Given the description of an element on the screen output the (x, y) to click on. 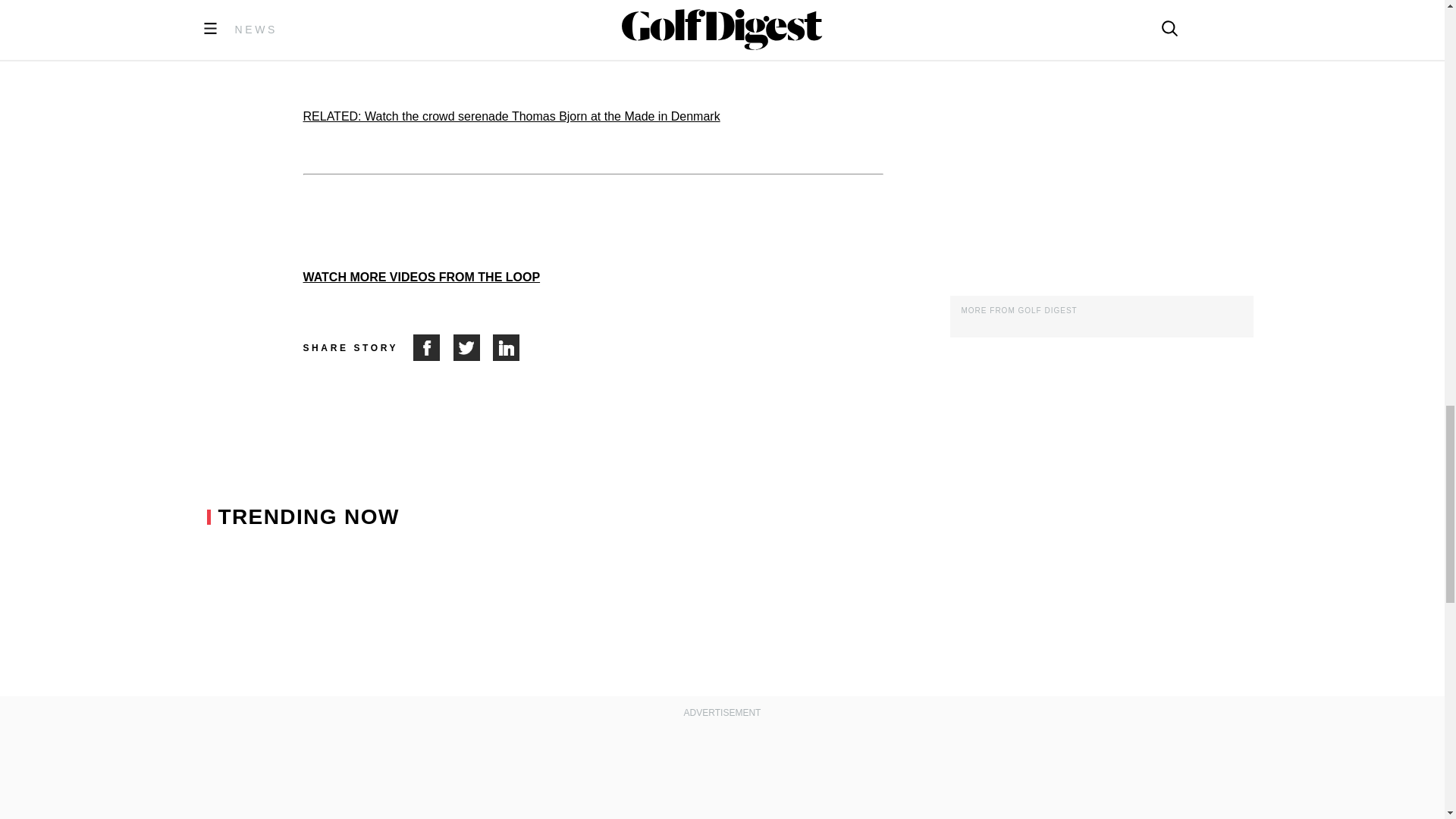
Share on LinkedIn (506, 347)
Share on Facebook (432, 347)
Share on Twitter (472, 347)
